Given the description of an element on the screen output the (x, y) to click on. 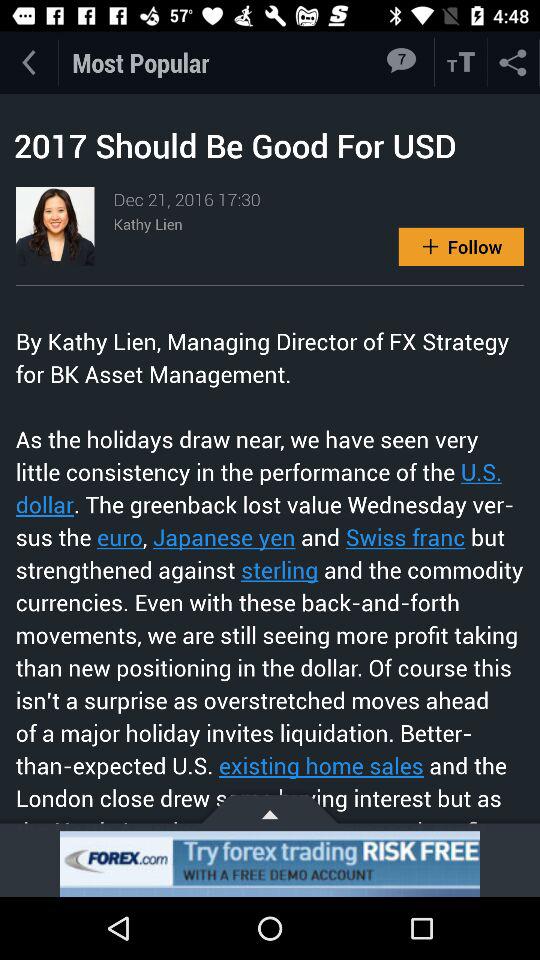
go to word (461, 62)
